Given the description of an element on the screen output the (x, y) to click on. 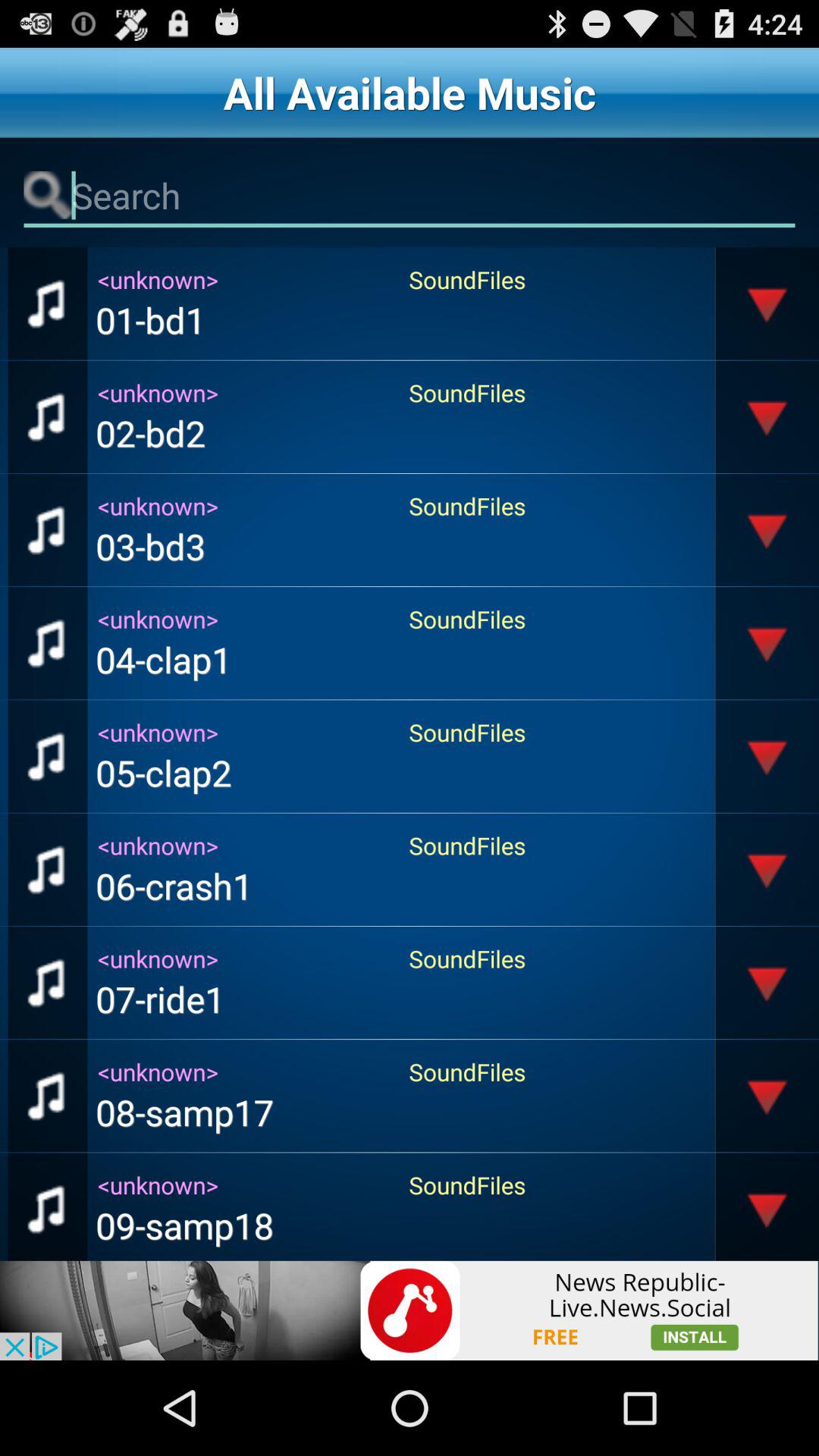
adverts (409, 1310)
